Given the description of an element on the screen output the (x, y) to click on. 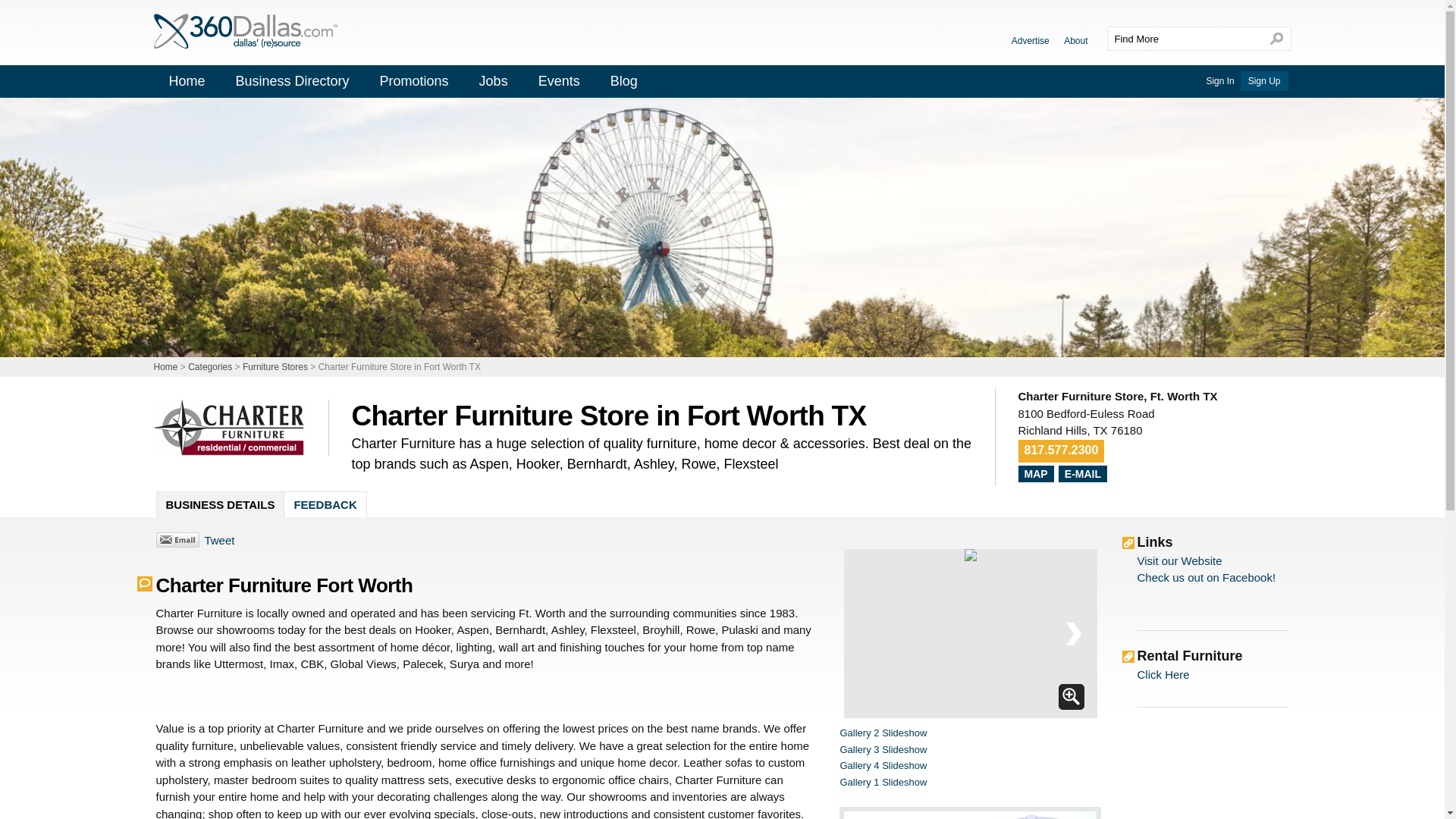
Sign In (1219, 81)
Advertise (1030, 40)
Events (558, 81)
Share by Email (177, 539)
Promotions (414, 81)
Charter Furniture Store, Ft. Worth TX Map (1034, 473)
Gallery 1 Slideshow (883, 781)
Furniture Stores (275, 366)
Jobs (493, 81)
E-mail (1082, 473)
Search (1276, 38)
Sign Up (1264, 80)
Gallery 3 Slideshow (883, 749)
Find More (1184, 38)
Categories (209, 366)
